Given the description of an element on the screen output the (x, y) to click on. 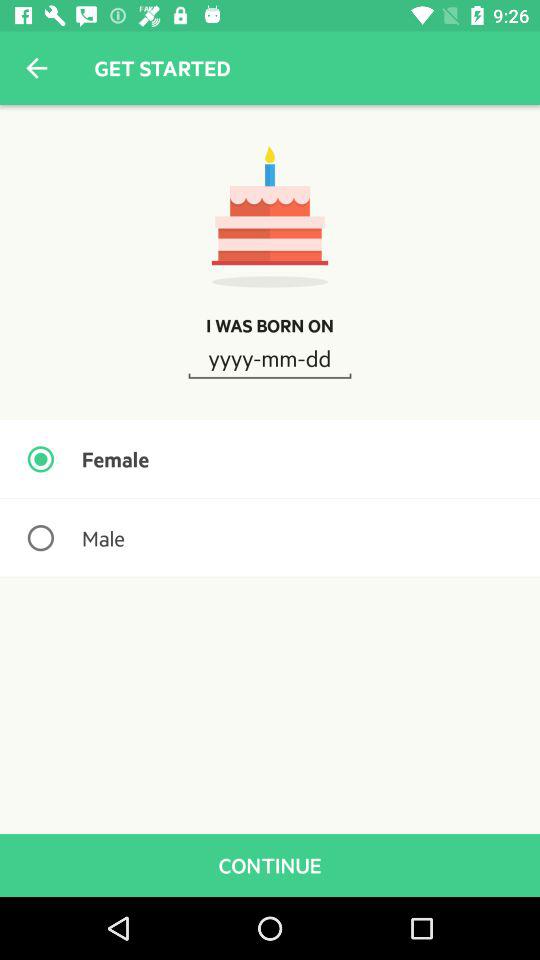
click yyyy-mm-dd item (269, 357)
